Given the description of an element on the screen output the (x, y) to click on. 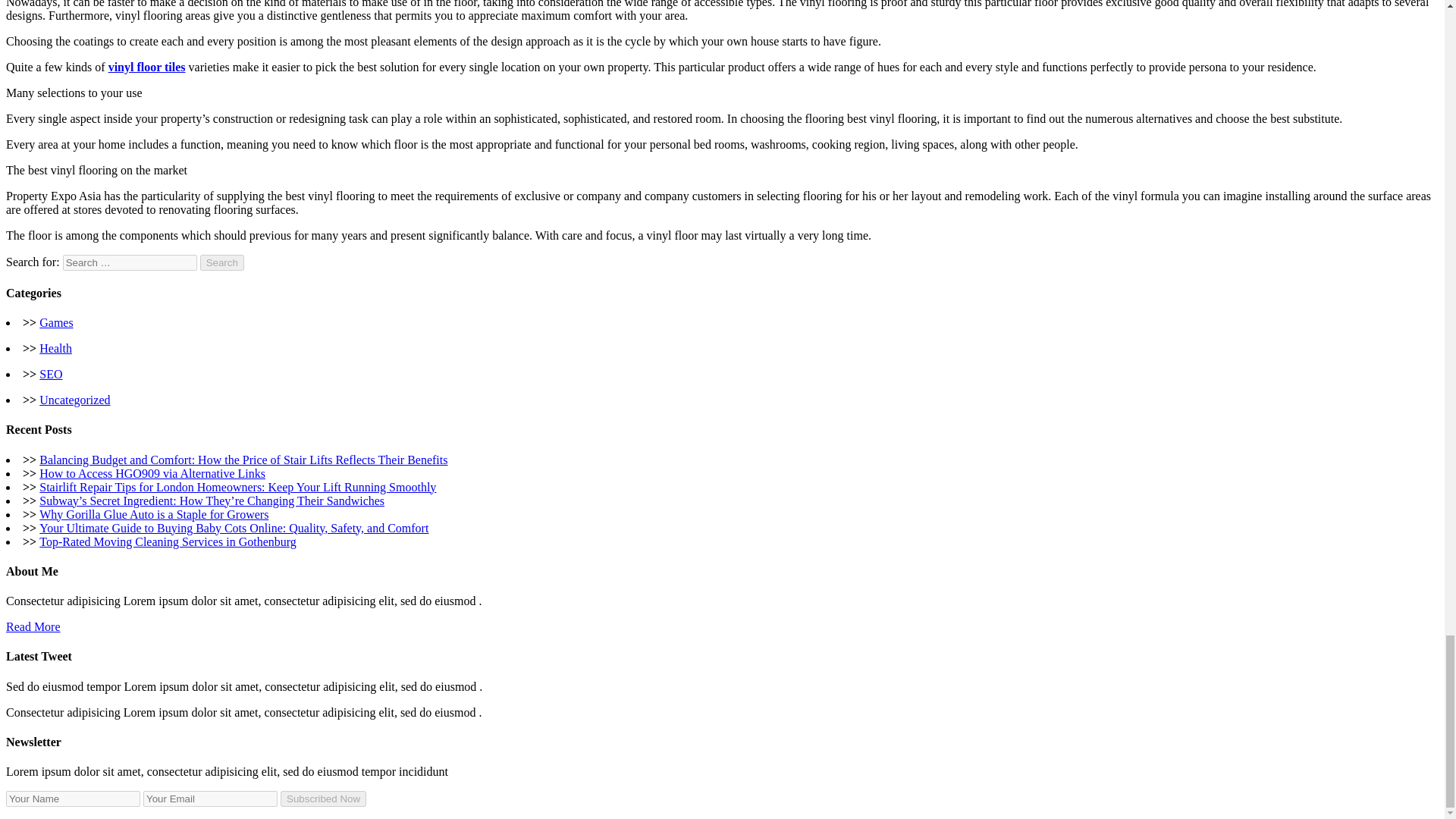
Health (55, 348)
Subscribed Now (323, 798)
vinyl floor tiles (146, 66)
Search (222, 262)
Search (222, 262)
Read More (33, 626)
How to Access HGO909 via Alternative Links (151, 472)
Search (222, 262)
SEO (50, 373)
Games (55, 322)
Why Gorilla Glue Auto is a Staple for Growers (153, 513)
Uncategorized (74, 399)
